Given the description of an element on the screen output the (x, y) to click on. 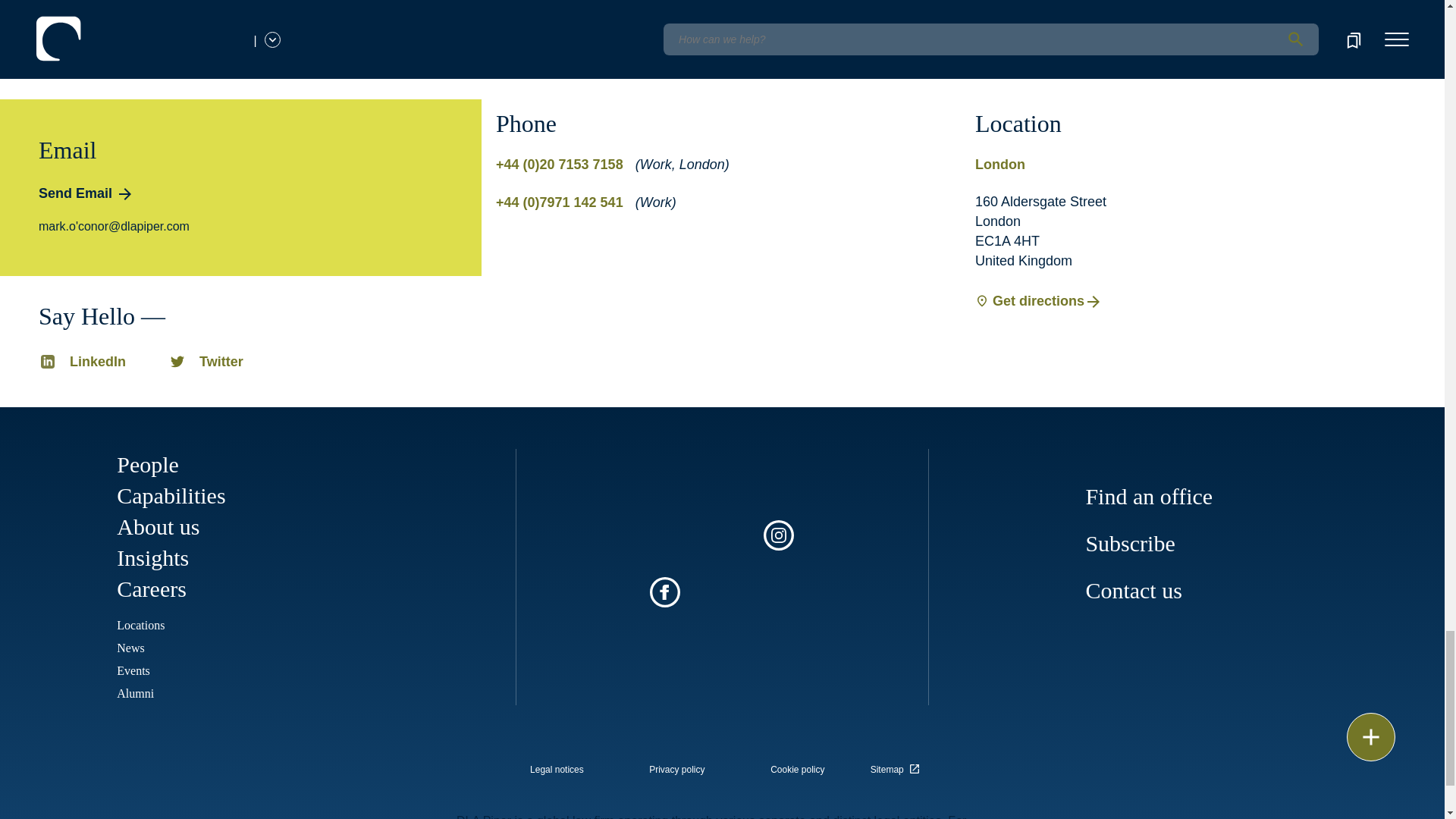
external (897, 765)
internal (676, 769)
internal (798, 769)
internal (557, 769)
